Given the description of an element on the screen output the (x, y) to click on. 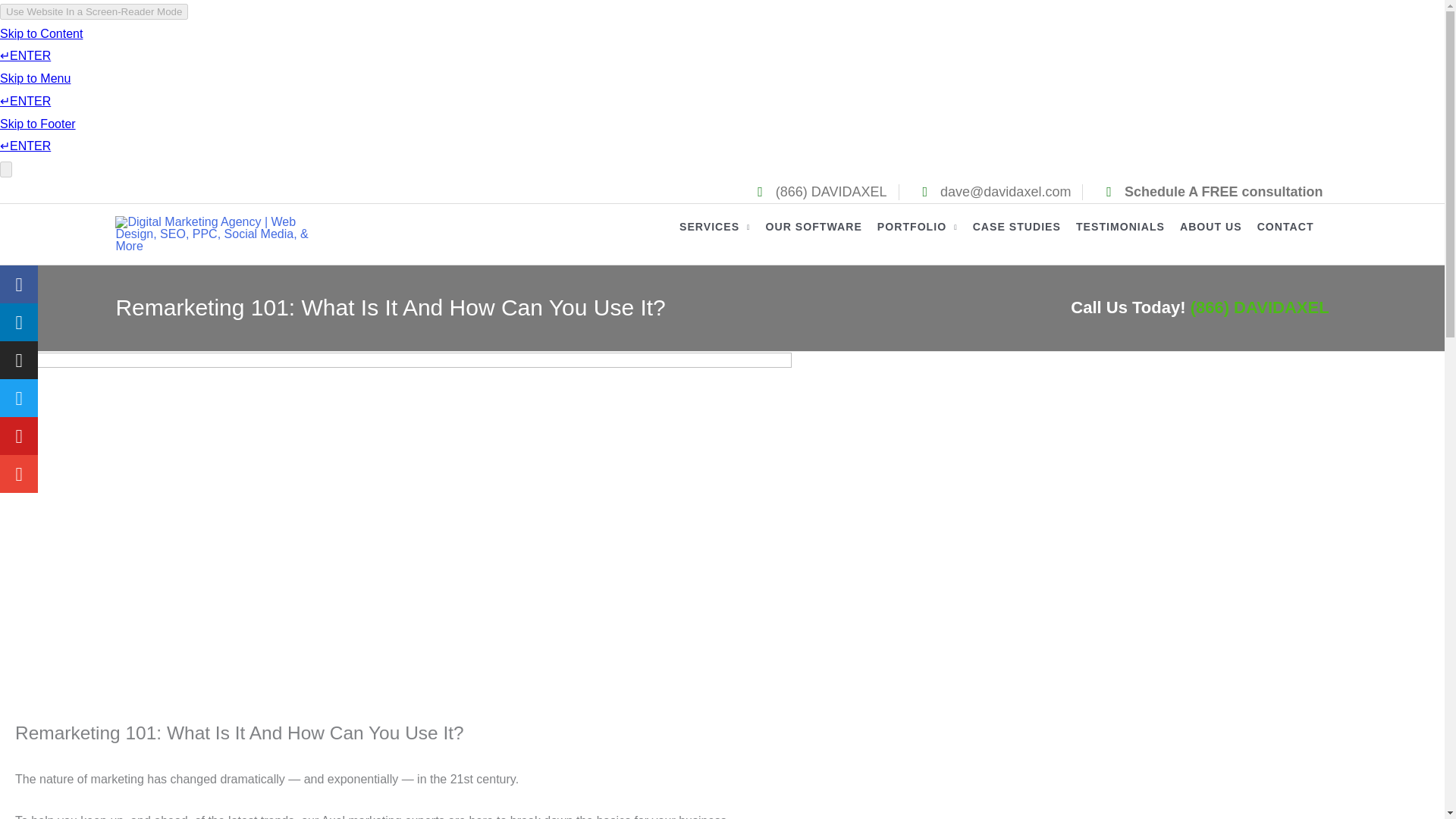
PORTFOLIO (924, 233)
CONTACT (1293, 233)
OUR SOFTWARE (821, 233)
Schedule A FREE consultation (1208, 191)
ABOUT US (1218, 233)
TESTIMONIALS (1127, 233)
SERVICES (722, 233)
CASE STUDIES (1023, 233)
